Given the description of an element on the screen output the (x, y) to click on. 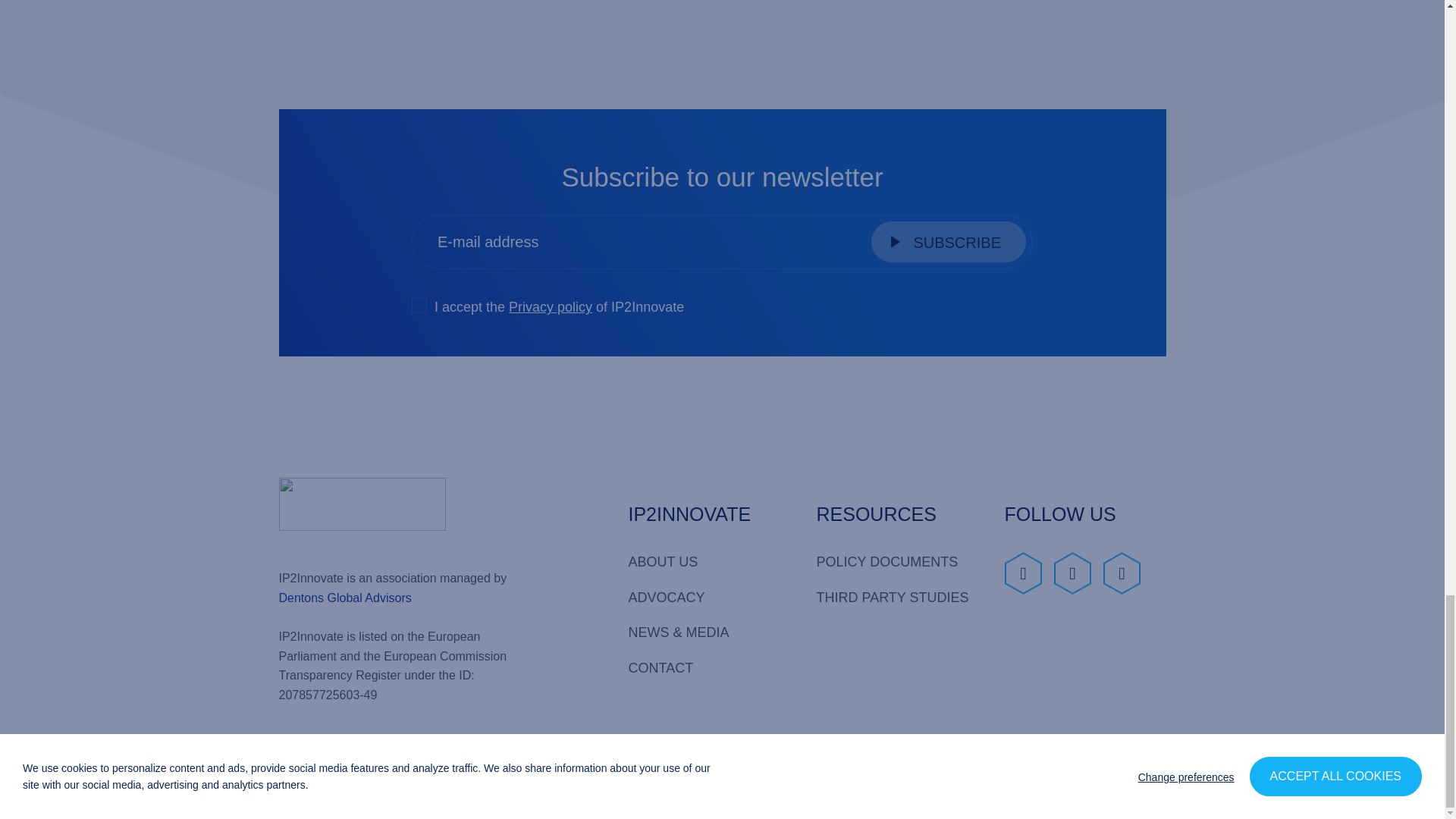
Two Impress (1126, 780)
CONTACT (708, 668)
Privacy policy (326, 786)
POLICY DOCUMENTS (895, 561)
ABOUT US (708, 561)
Privacy policy (550, 306)
SUBSCRIBE (948, 241)
ADVOCACY (708, 597)
Dentons Global Advisors (345, 597)
THIRD PARTY STUDIES (895, 597)
